Given the description of an element on the screen output the (x, y) to click on. 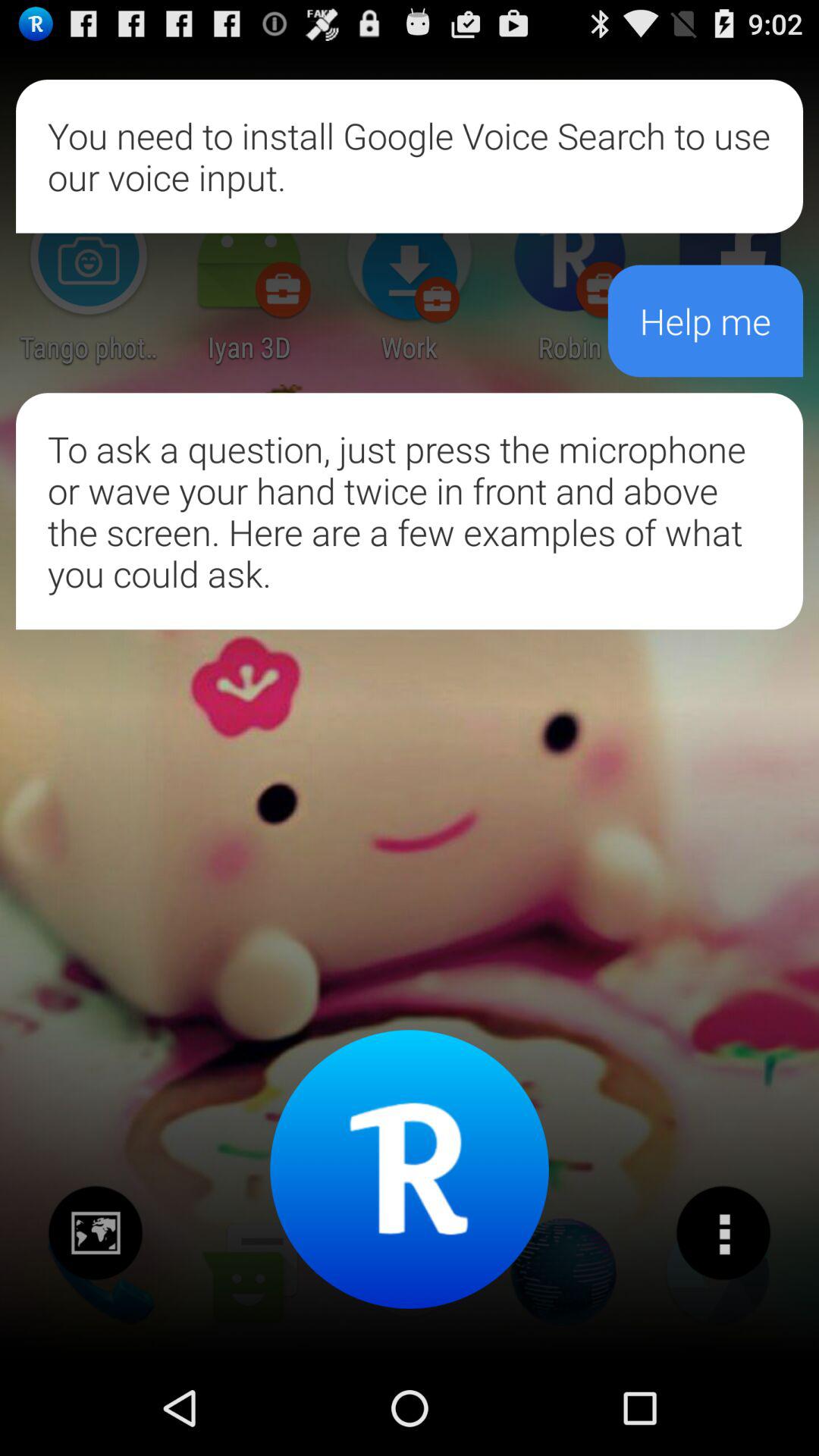
share the picture (95, 1232)
